Given the description of an element on the screen output the (x, y) to click on. 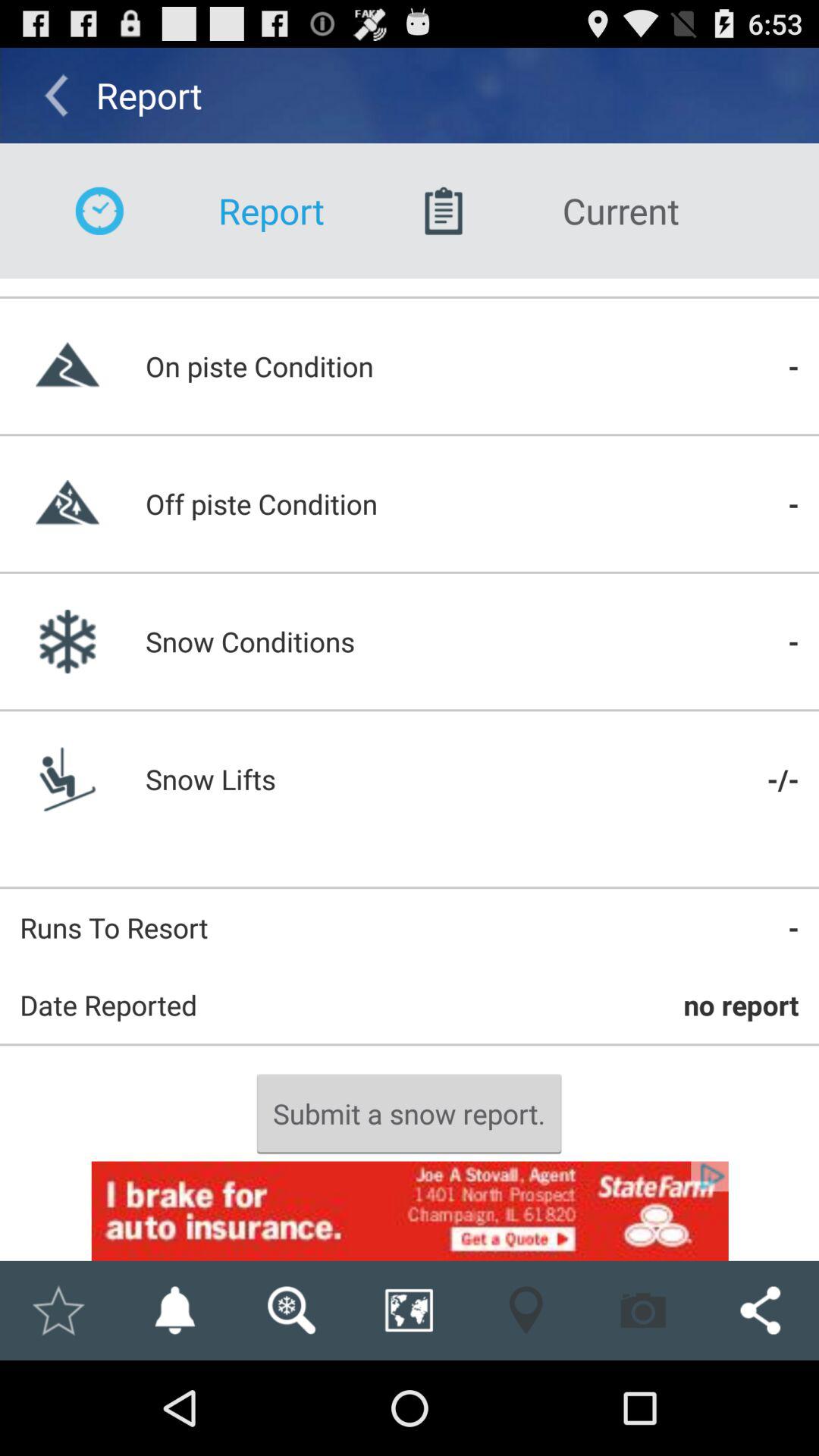
share the report (760, 1310)
